Given the description of an element on the screen output the (x, y) to click on. 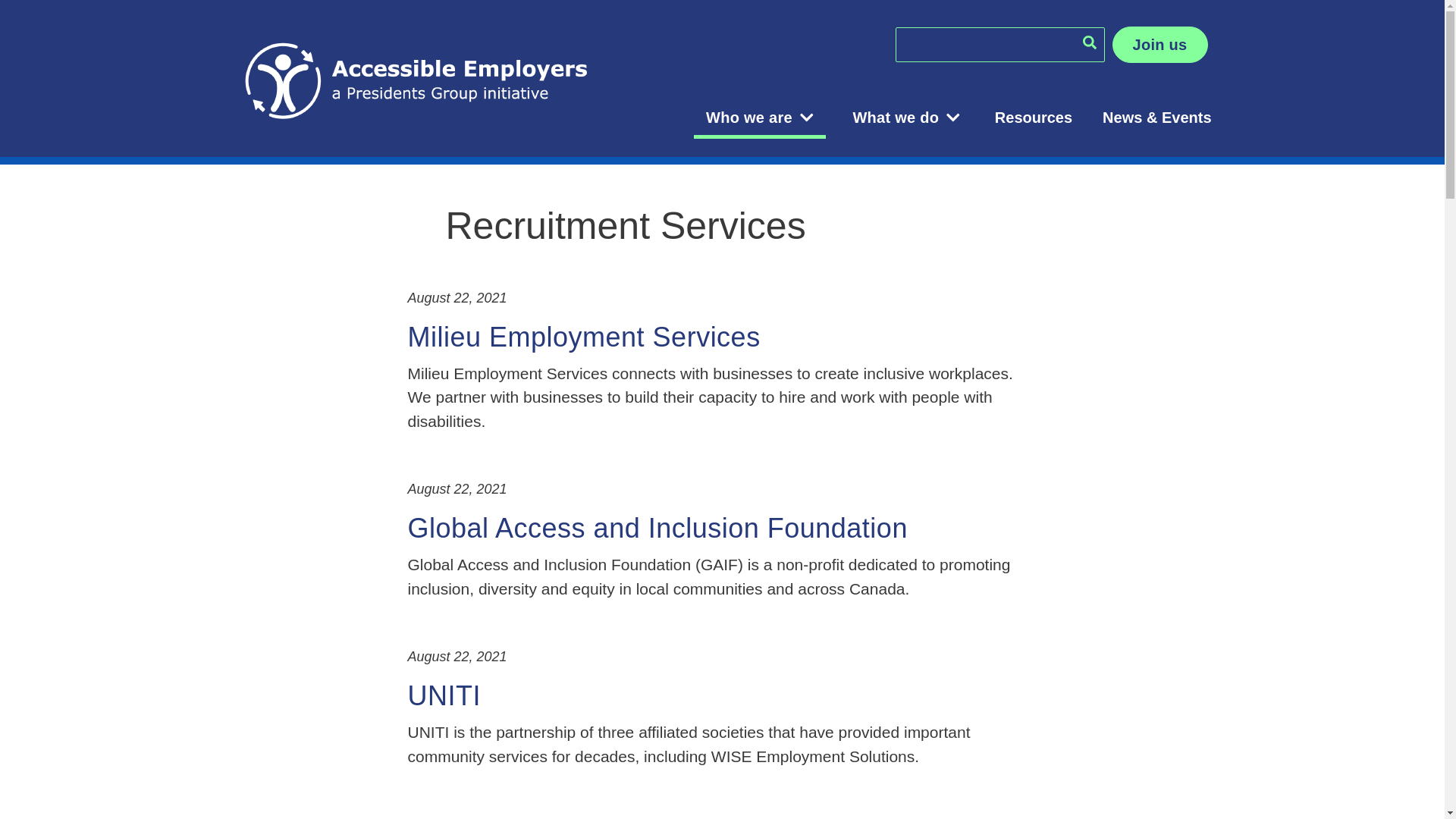
AccessibleEmployers.ca (415, 78)
search (1089, 42)
UNITI (444, 695)
Who we are (758, 117)
Milieu Employment Services (583, 336)
Resources (1033, 117)
What we do (905, 117)
search (1089, 42)
search (1089, 42)
Global Access and Inclusion Foundation (657, 527)
